Given the description of an element on the screen output the (x, y) to click on. 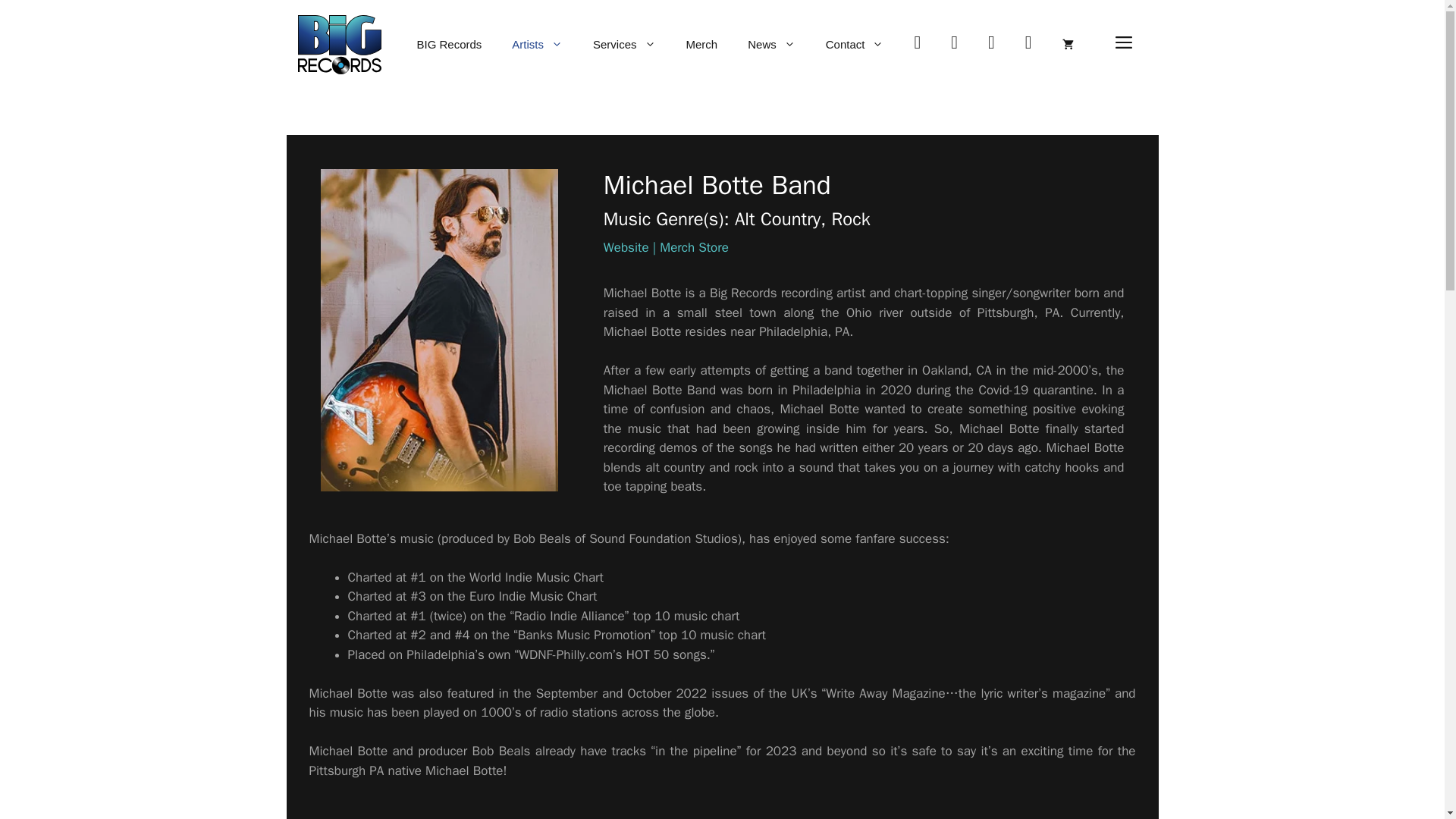
Artists (537, 44)
BIG Records (448, 44)
View your shopping cart (1066, 44)
